Given the description of an element on the screen output the (x, y) to click on. 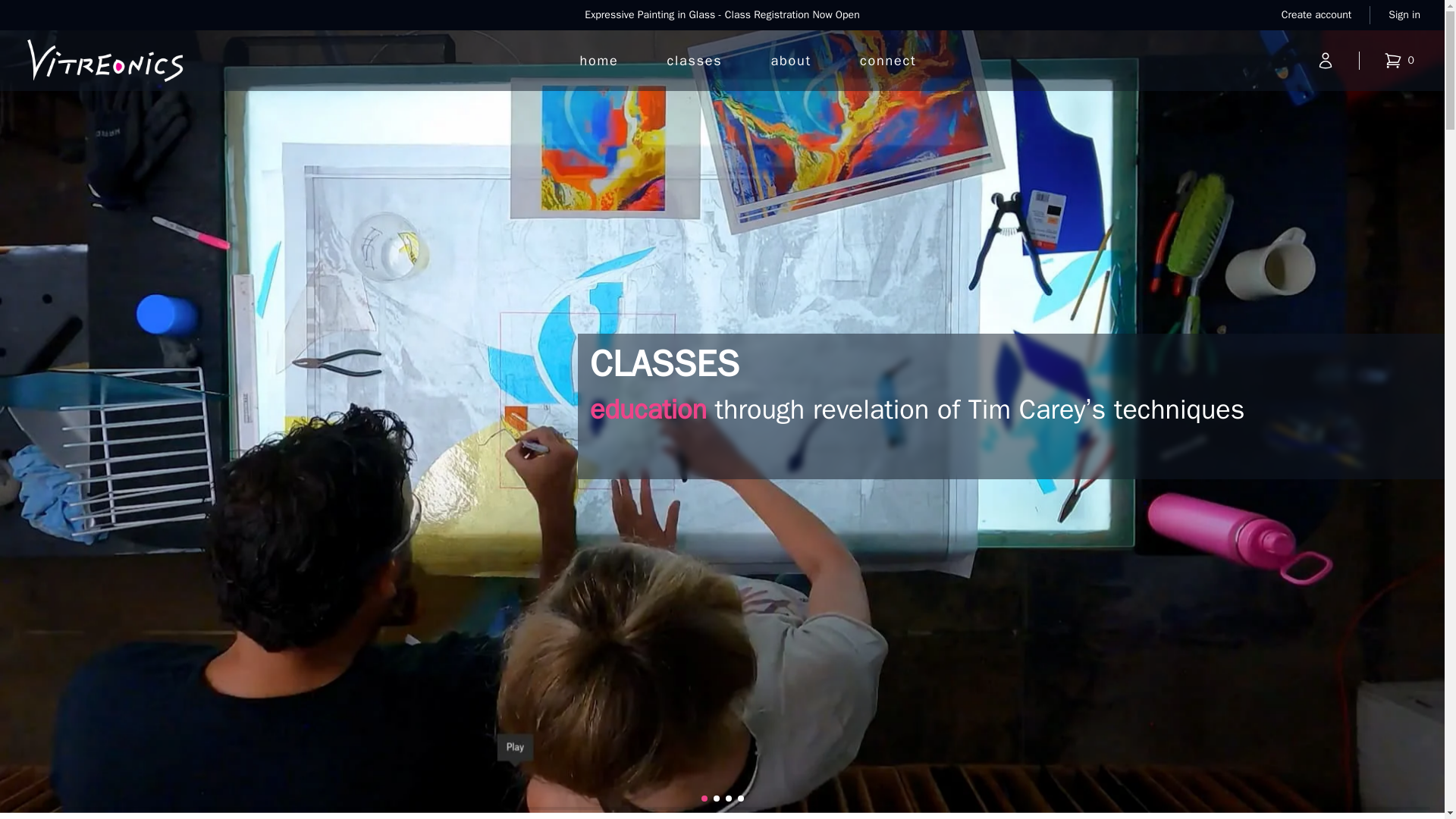
connect (887, 60)
Expressive Painting in Glass - Class Registration Now Open (722, 14)
Create account (1316, 14)
Sign in (1405, 14)
classes (694, 60)
